Given the description of an element on the screen output the (x, y) to click on. 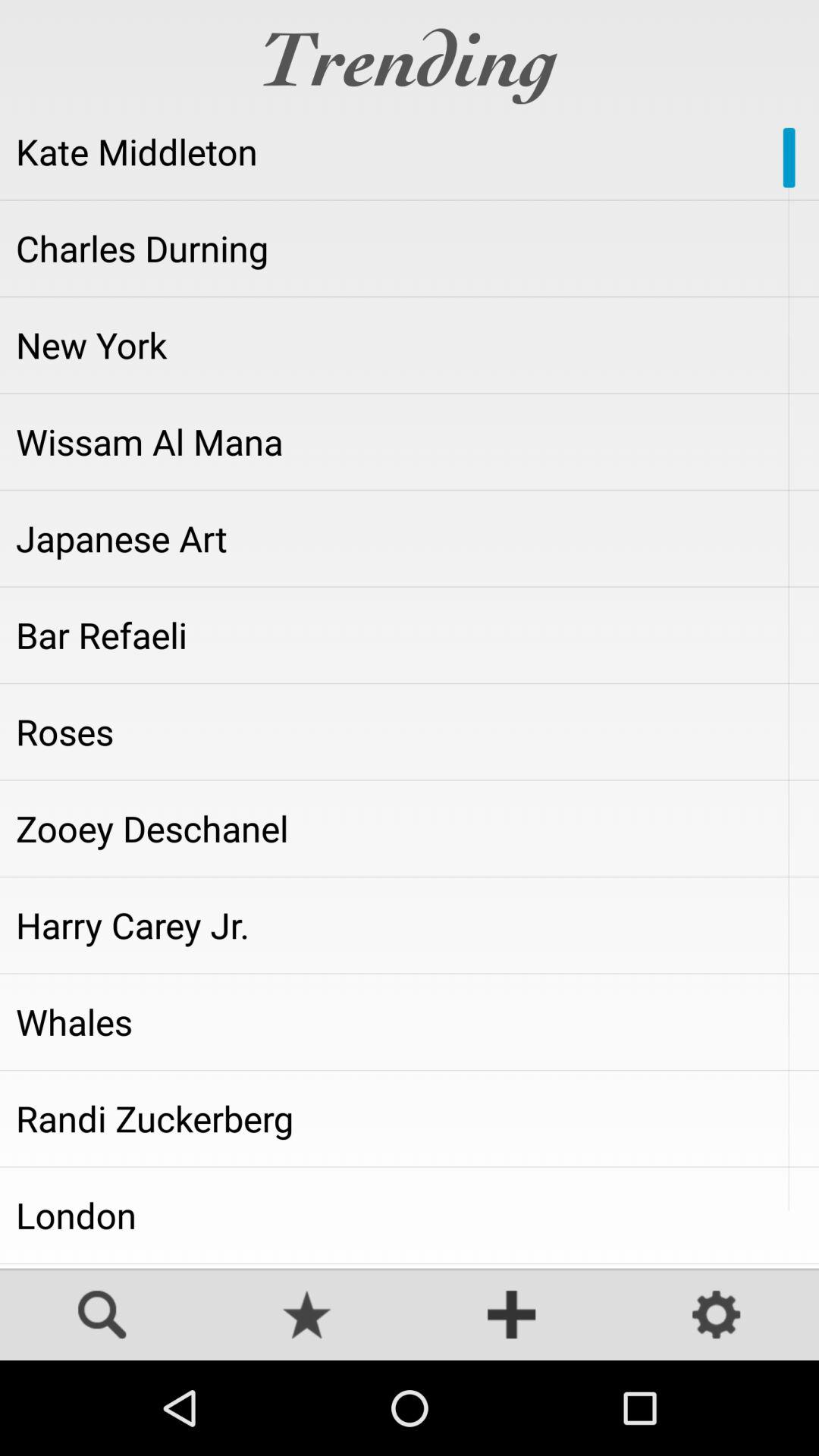
go to search (102, 1316)
